Given the description of an element on the screen output the (x, y) to click on. 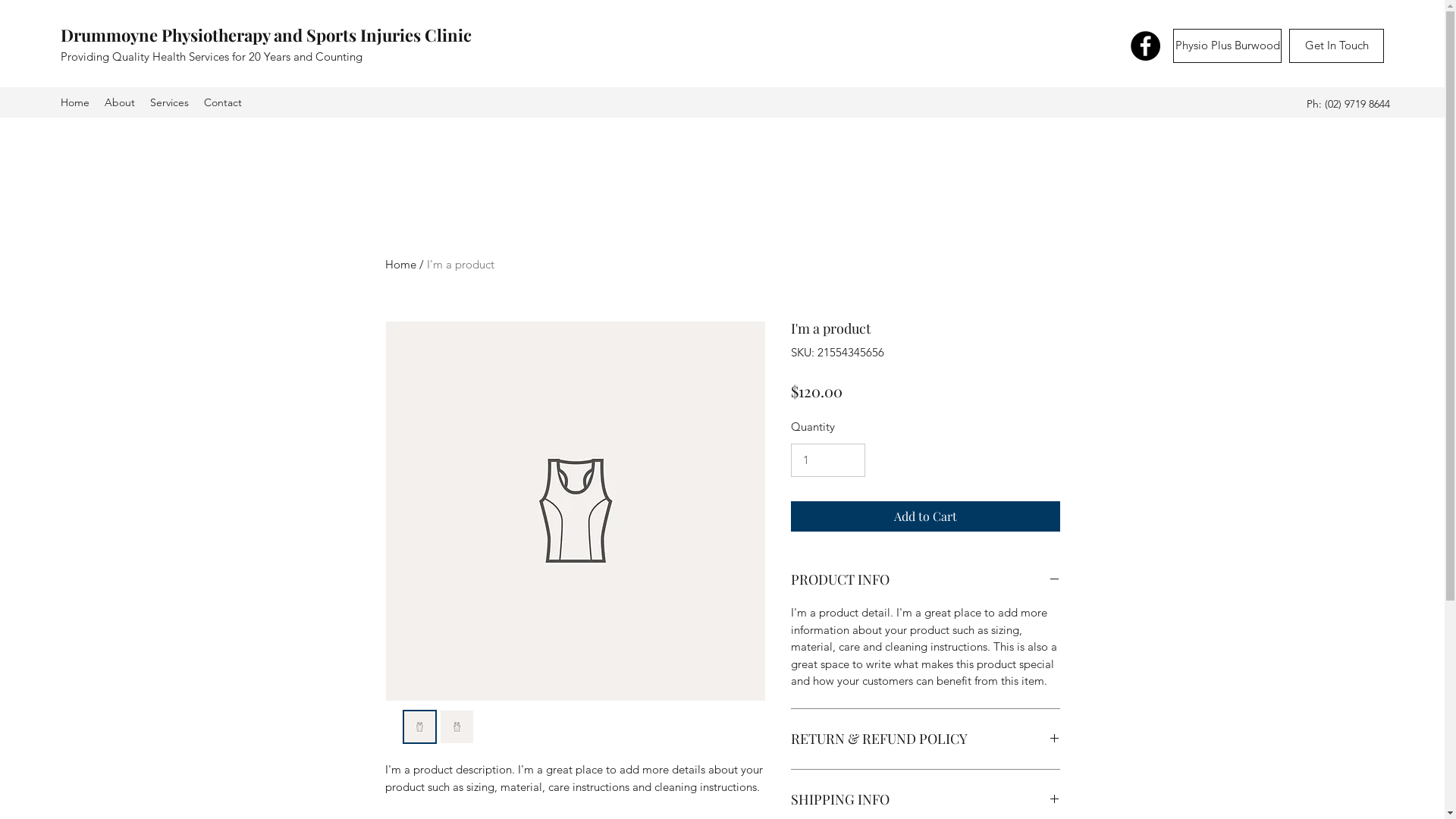
Contact Element type: text (222, 102)
RETURN & REFUND POLICY Element type: text (924, 739)
Add to Cart Element type: text (924, 516)
Services Element type: text (169, 102)
SHIPPING INFO Element type: text (924, 799)
Get In Touch Element type: text (1336, 45)
Physio Plus Burwood Element type: text (1227, 45)
I'm a product Element type: text (459, 264)
About Element type: text (119, 102)
PRODUCT INFO Element type: text (924, 579)
Home Element type: text (75, 102)
Home Element type: text (400, 264)
